Given the description of an element on the screen output the (x, y) to click on. 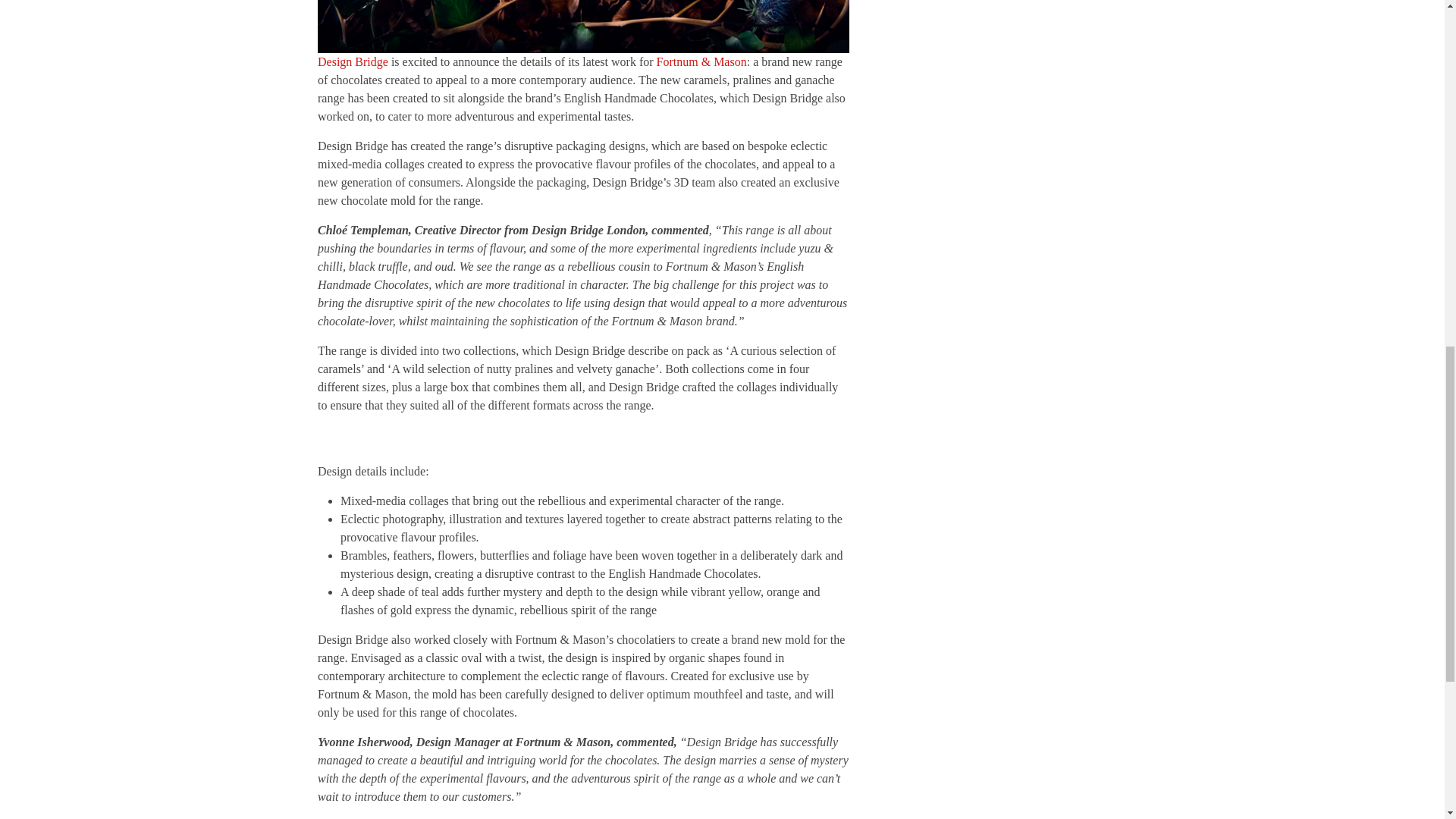
Design Bridge (352, 61)
